Given the description of an element on the screen output the (x, y) to click on. 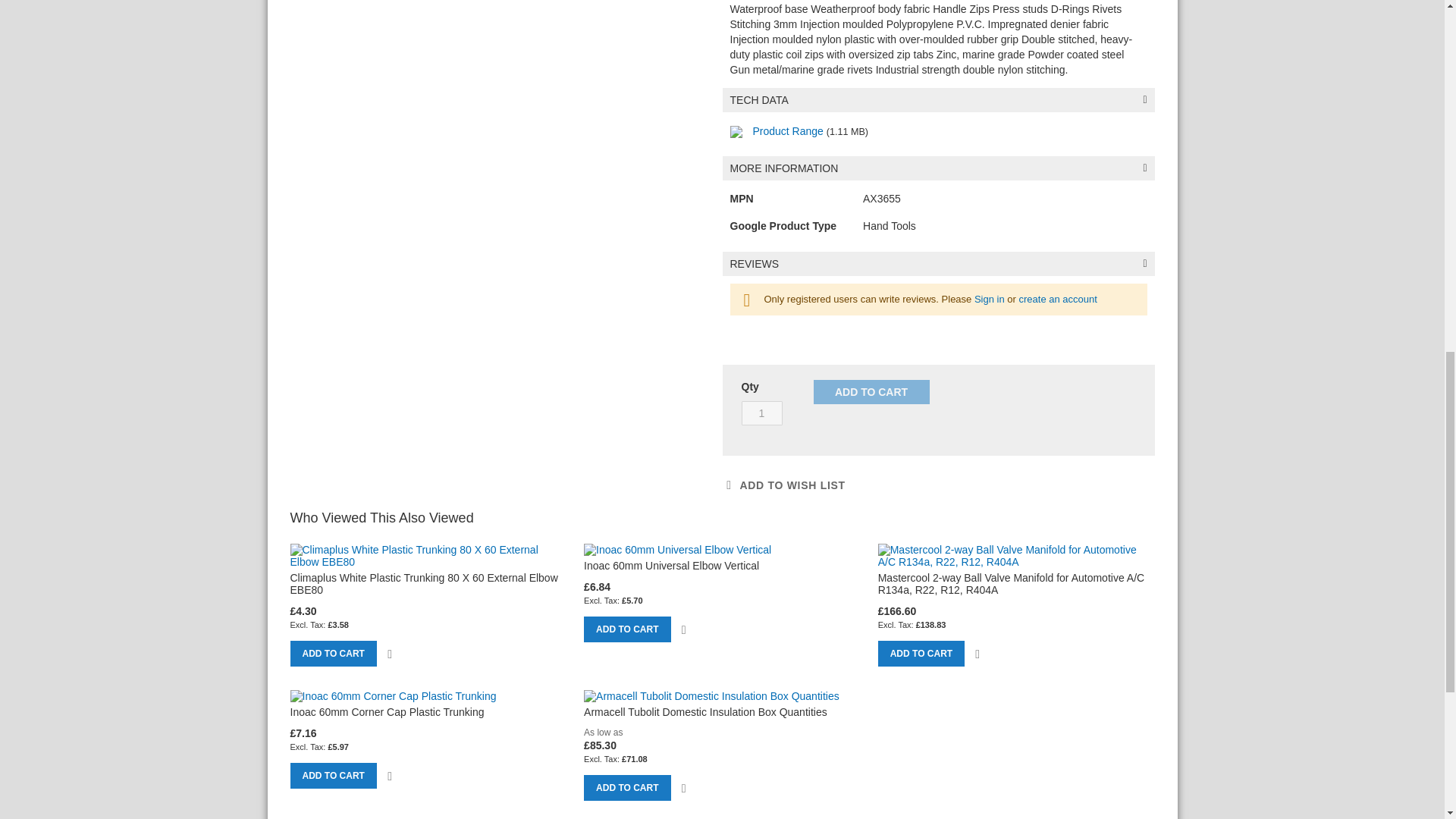
1 (762, 413)
Qty (762, 413)
Add to Cart (870, 392)
Add to Cart (332, 653)
